Given the description of an element on the screen output the (x, y) to click on. 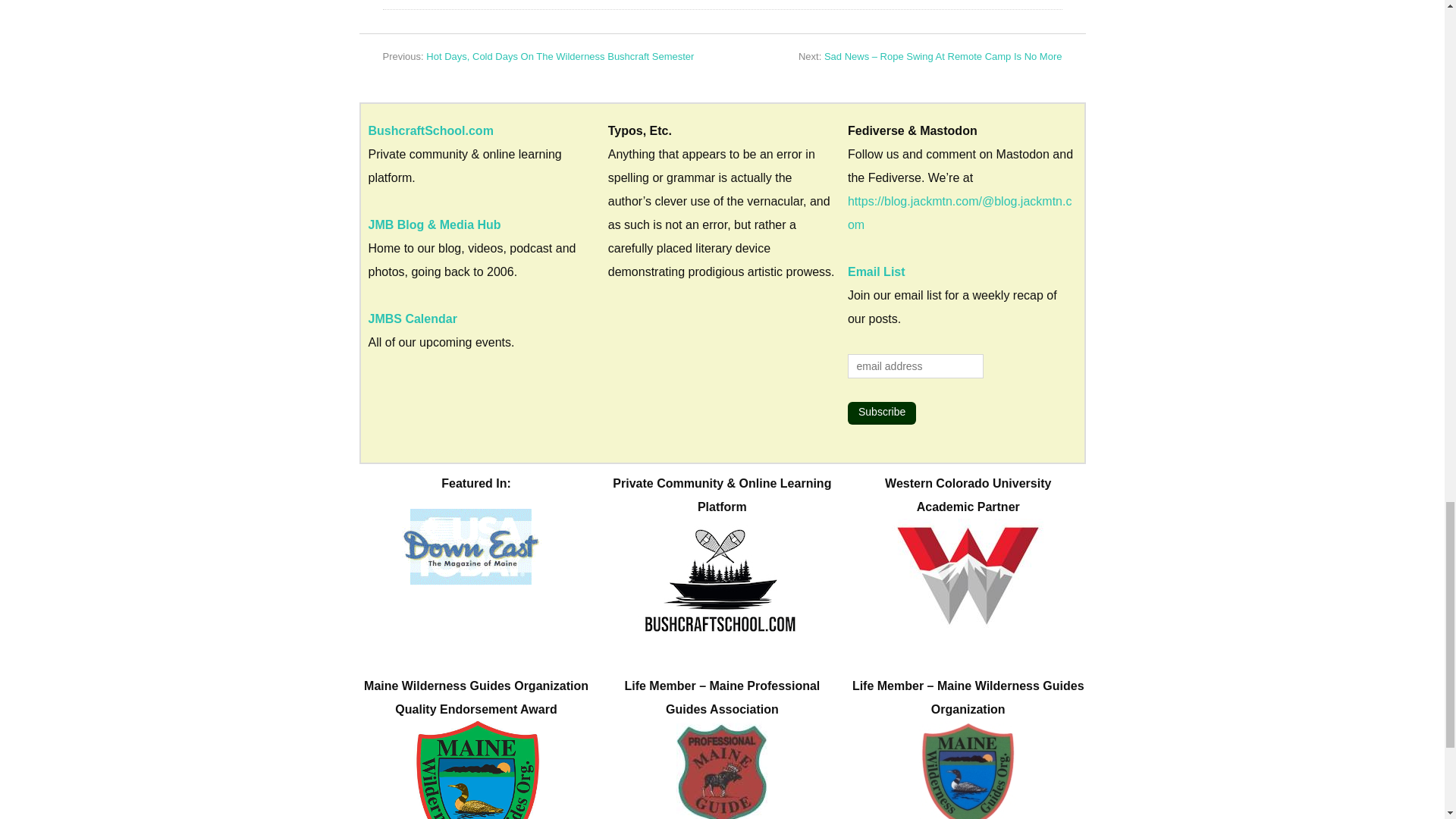
WSU (967, 573)
Maine Wilderness Guides Organization - Life Member (967, 770)
Maine Professional Guides Association - Life Member (722, 770)
Subscribe (881, 413)
BushcraftSchool.com (722, 577)
MWGO (475, 770)
